Given the description of an element on the screen output the (x, y) to click on. 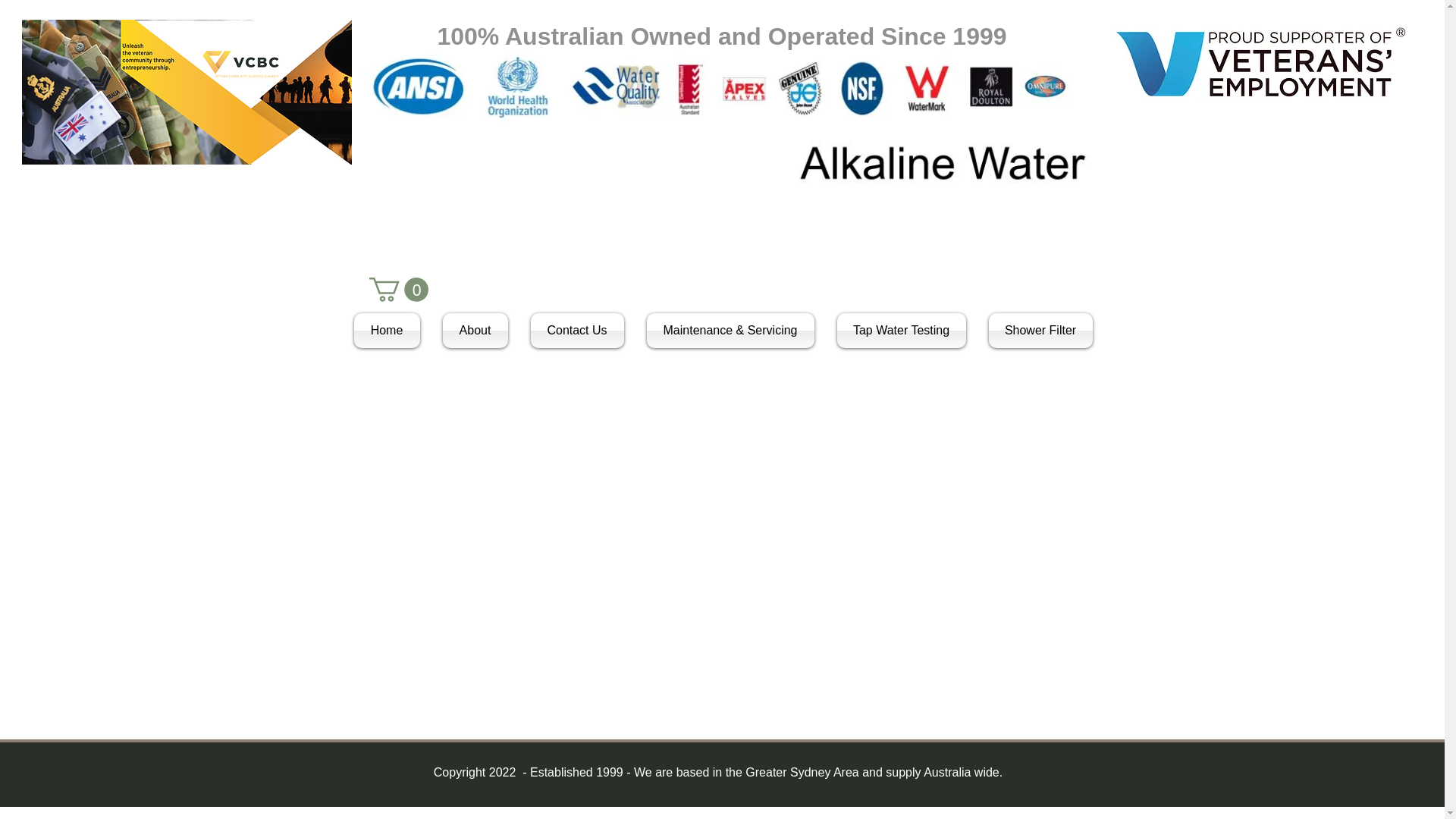
Facebook Like Element type: hover (901, 283)
VEC Supporter logo inline.jpg Element type: hover (1259, 62)
Embedded Content Element type: hover (460, 86)
External Facebook Element type: hover (705, 549)
Shower Filter Element type: text (1034, 330)
0 Element type: text (397, 289)
VCBC Logo.png Element type: hover (186, 91)
About Element type: text (474, 330)
Home Element type: text (391, 330)
Contact Us Element type: text (576, 330)
Maintenance & Servicing Element type: text (730, 330)
Tap Water Testing Element type: text (900, 330)
